Given the description of an element on the screen output the (x, y) to click on. 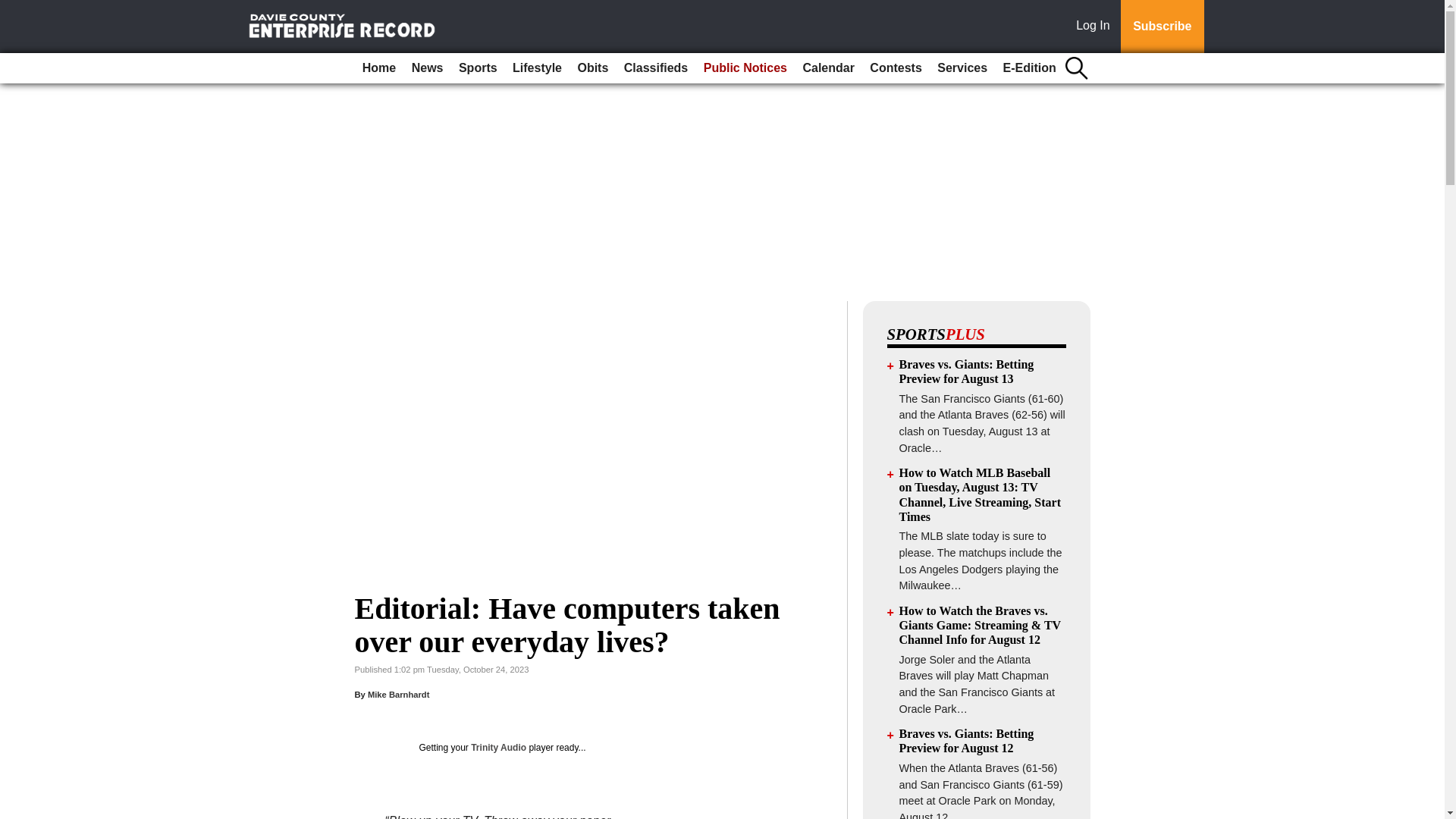
Trinity Audio (497, 747)
Obits (592, 68)
News (427, 68)
E-Edition (1029, 68)
Sports (477, 68)
Braves vs. Giants: Betting Preview for August 12 (966, 740)
Log In (1095, 26)
Services (961, 68)
Public Notices (745, 68)
Classifieds (655, 68)
